Given the description of an element on the screen output the (x, y) to click on. 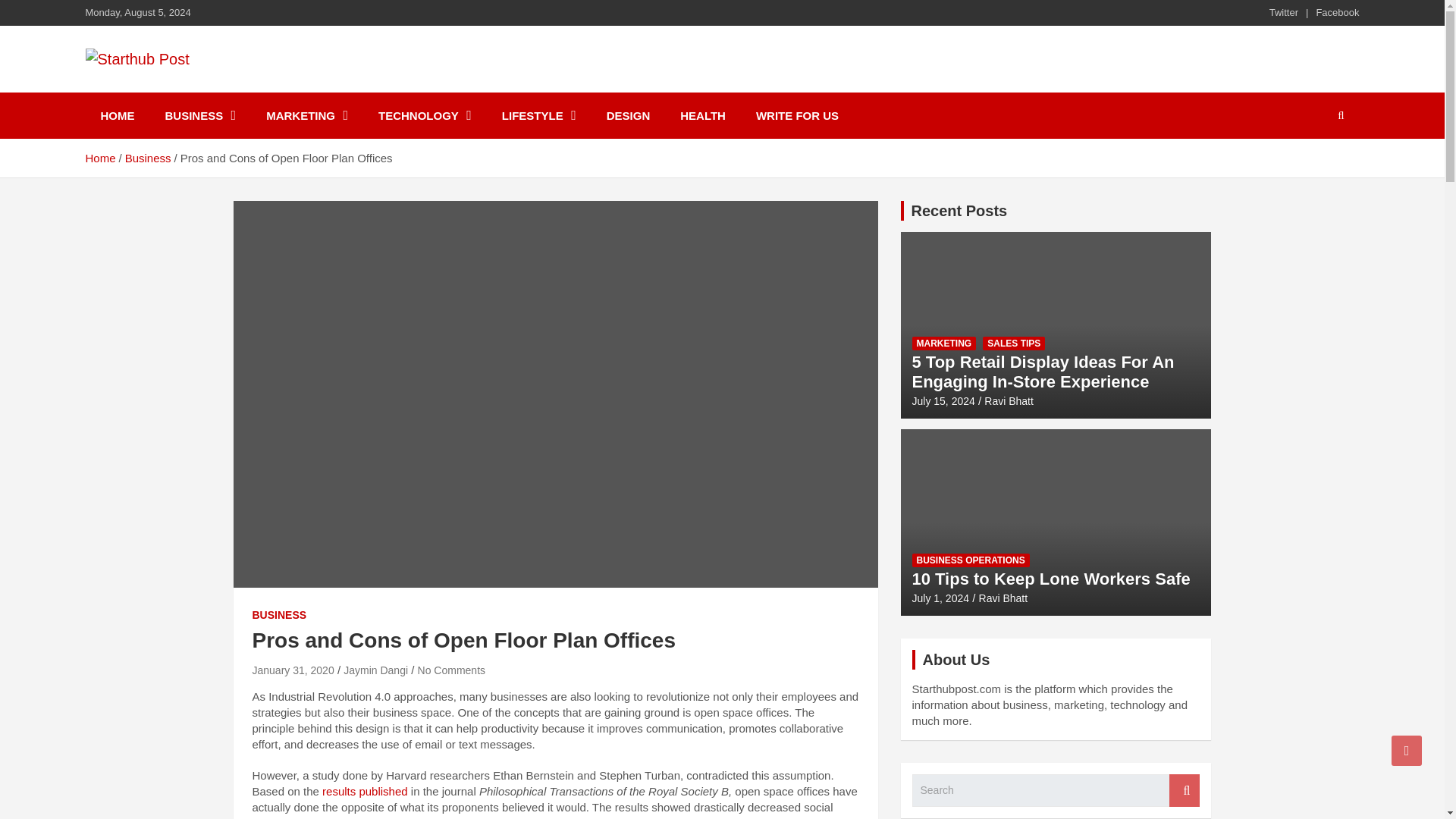
Go to Top (1406, 750)
Business (148, 157)
Jaymin Dangi (375, 670)
Facebook (1337, 12)
Home (99, 157)
MARKETING (306, 115)
No Comments (450, 670)
LIFESTYLE (538, 115)
BUSINESS (278, 614)
Twitter (1283, 12)
DESIGN (628, 115)
10 Tips to Keep Lone Workers Safe (940, 598)
results published (364, 790)
HOME (116, 115)
